Given the description of an element on the screen output the (x, y) to click on. 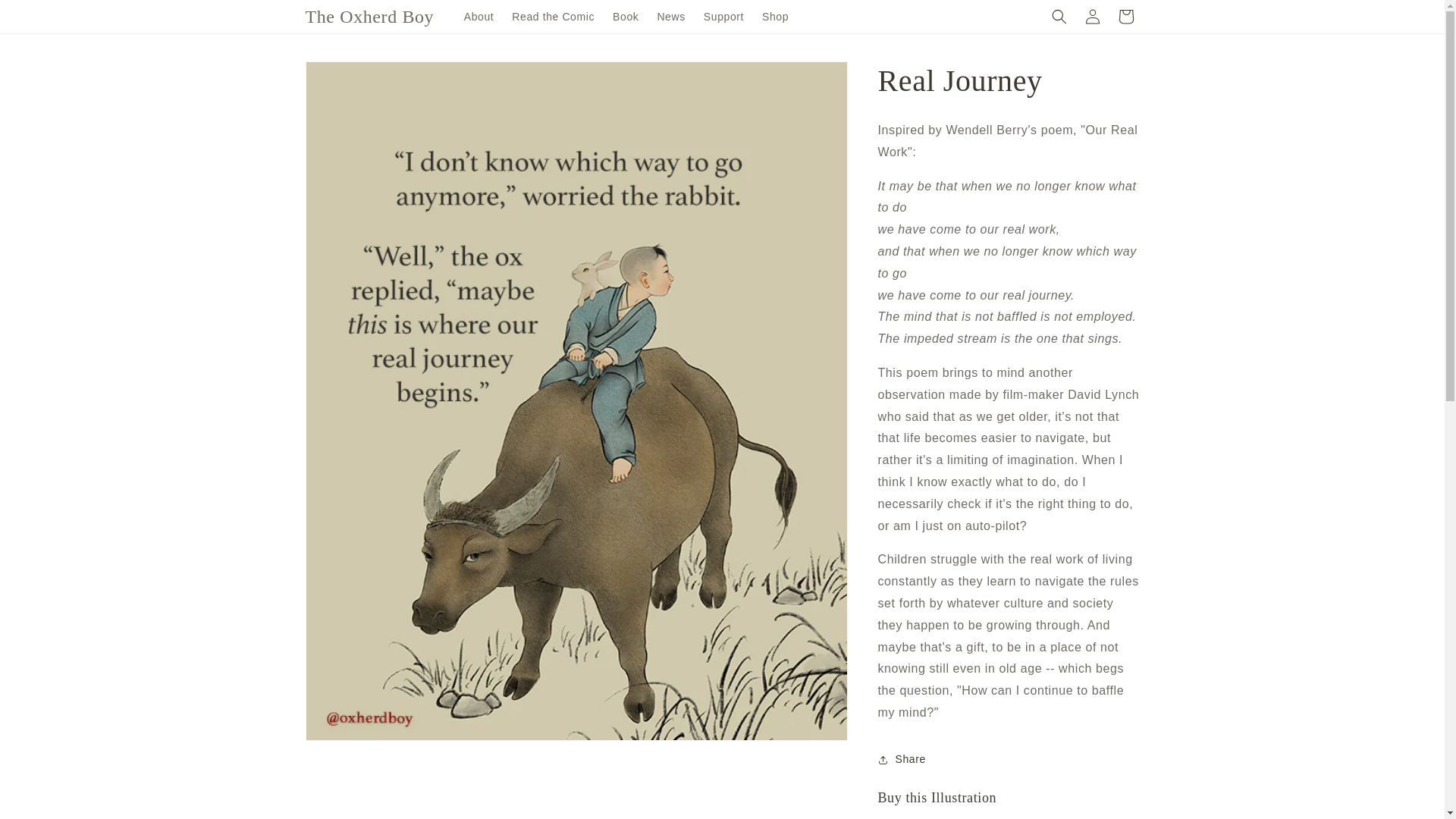
Skip to content (45, 17)
Shop (774, 16)
News (670, 16)
About (478, 16)
Cart (1124, 16)
The Oxherd Boy (369, 16)
Read the Comic (553, 16)
Skip to product information (350, 78)
Log in (1091, 16)
Support (723, 16)
